Given the description of an element on the screen output the (x, y) to click on. 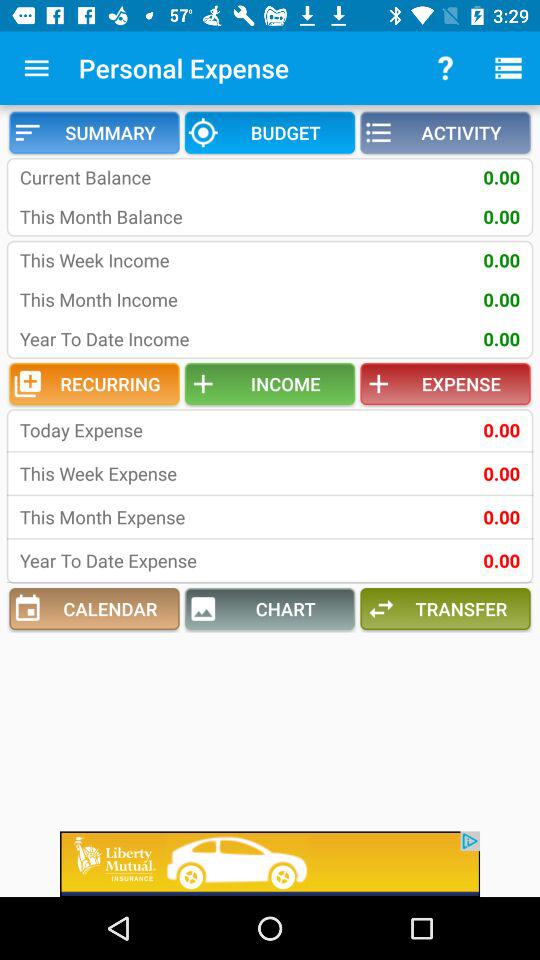
swipe until the today expense icon (149, 429)
